Given the description of an element on the screen output the (x, y) to click on. 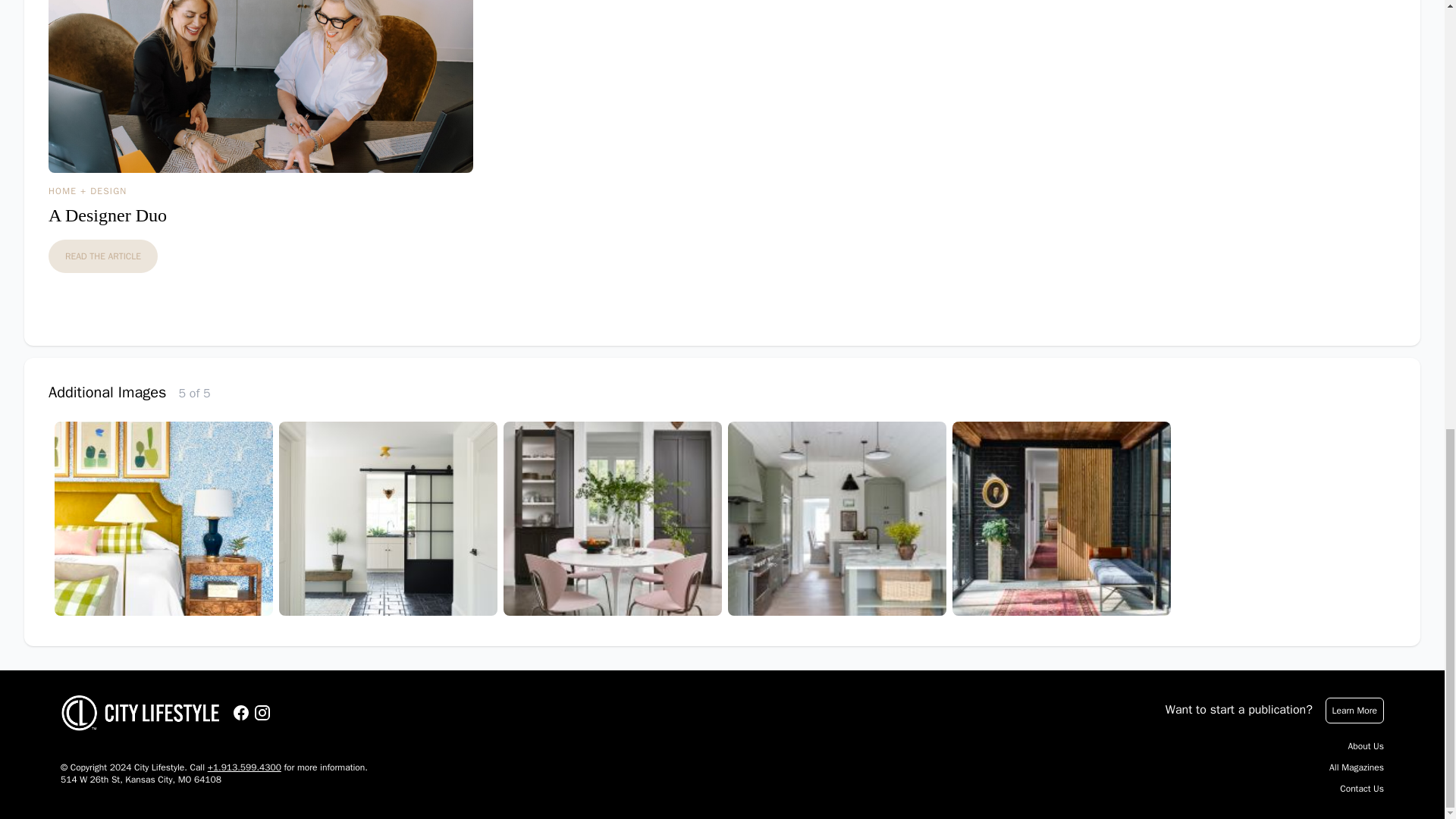
Learn More (1354, 710)
READ THE ARTICLE (102, 255)
All Magazines (1356, 767)
About Us (1366, 746)
Contact Us (1361, 788)
